Given the description of an element on the screen output the (x, y) to click on. 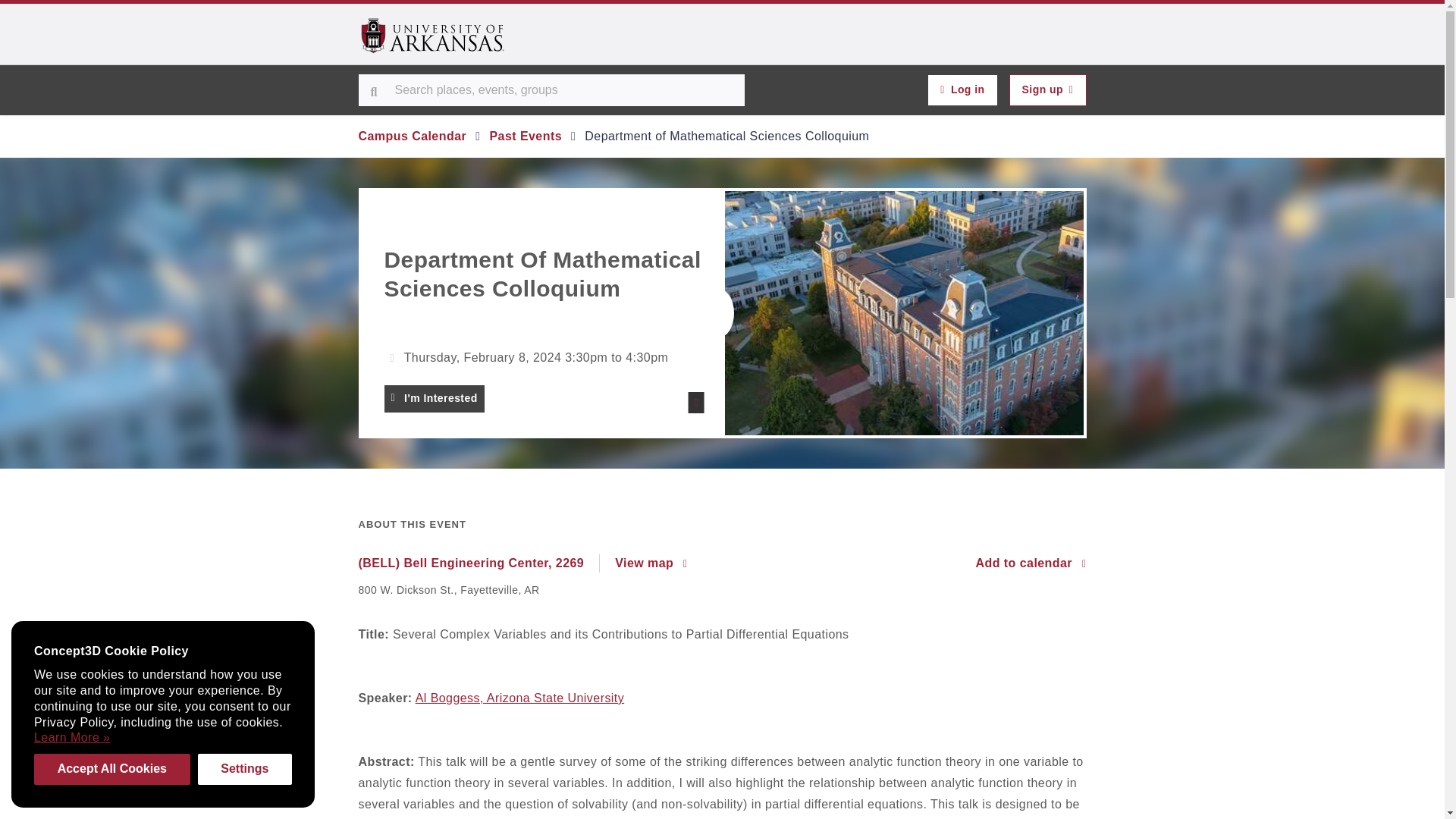
Add to calendar (1030, 563)
Campus Calendar (411, 135)
View map (650, 563)
Log in (961, 90)
I'm Interested (433, 398)
Al Boggess, Arizona State University (519, 697)
Sign up (1047, 90)
Past Events (525, 135)
